Given the description of an element on the screen output the (x, y) to click on. 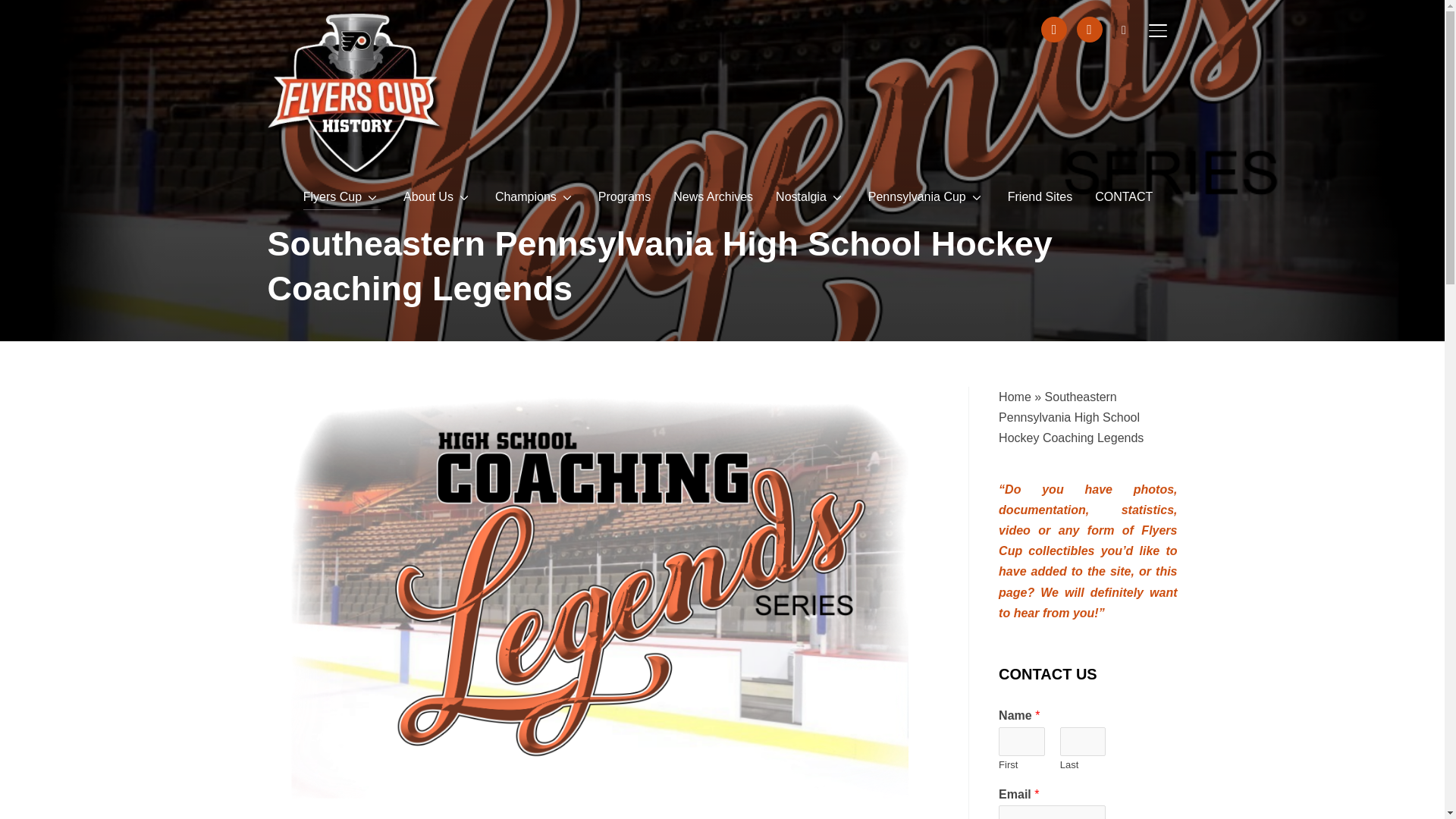
Facebook (1054, 28)
Twitter (1089, 28)
